Given the description of an element on the screen output the (x, y) to click on. 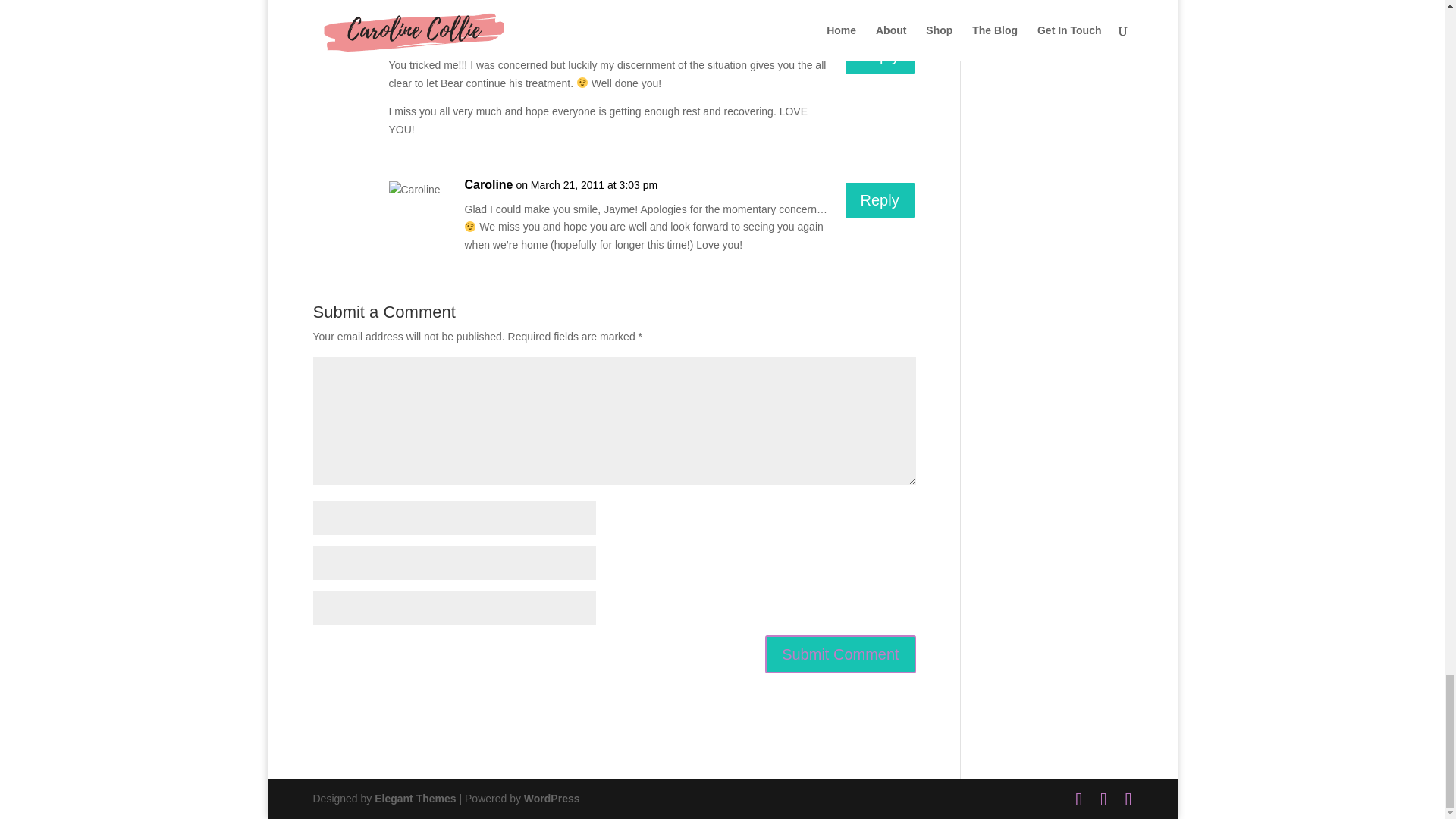
WordPress (551, 798)
Elegant Themes (414, 798)
Reply (879, 55)
Caroline (488, 185)
Premium WordPress Themes (414, 798)
Submit Comment (840, 654)
Reply (879, 199)
Submit Comment (840, 654)
